Given the description of an element on the screen output the (x, y) to click on. 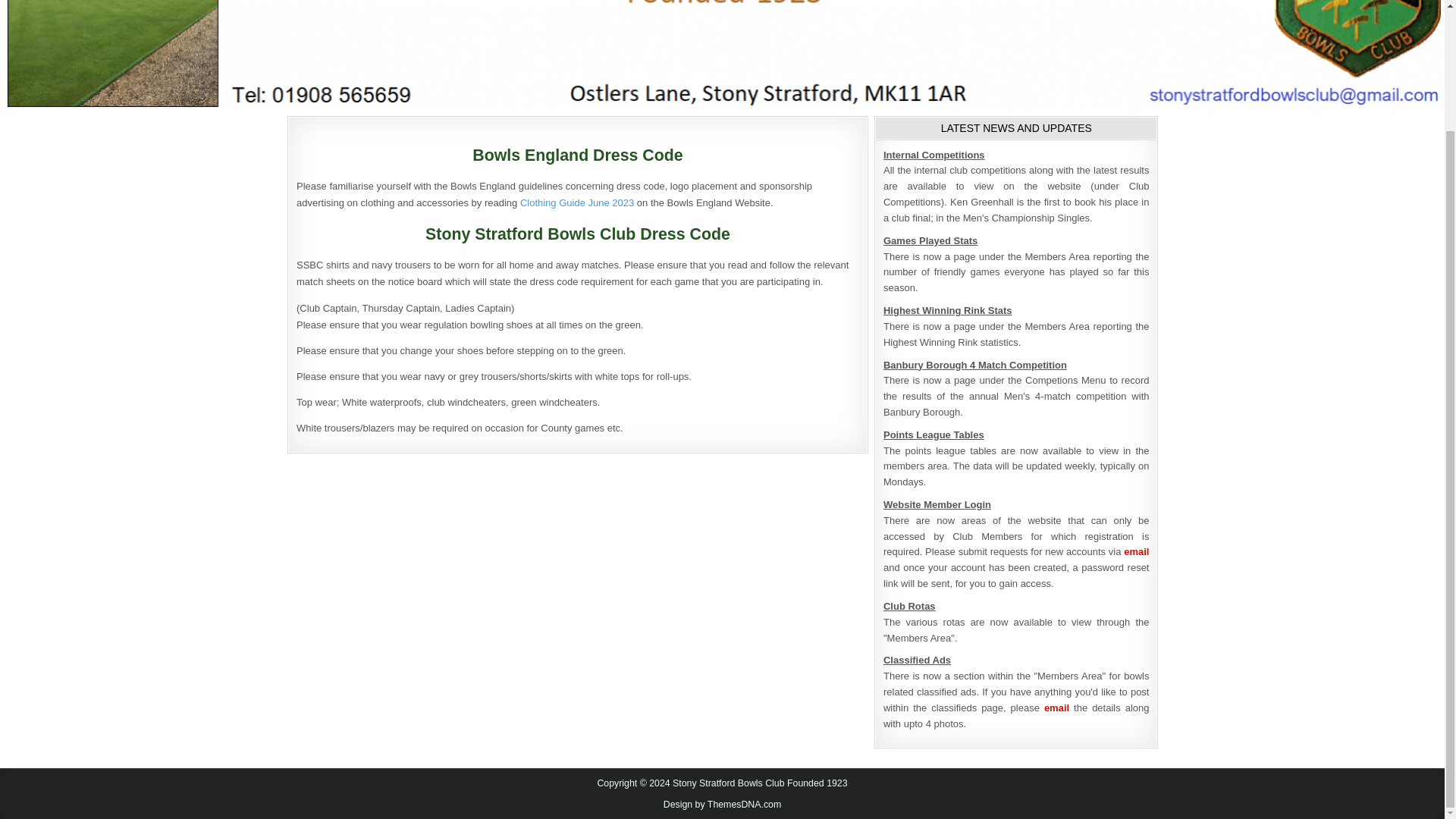
Clothing Guide June 2023 (576, 202)
Design by ThemesDNA.com (722, 804)
email (1055, 707)
email (1136, 551)
